Given the description of an element on the screen output the (x, y) to click on. 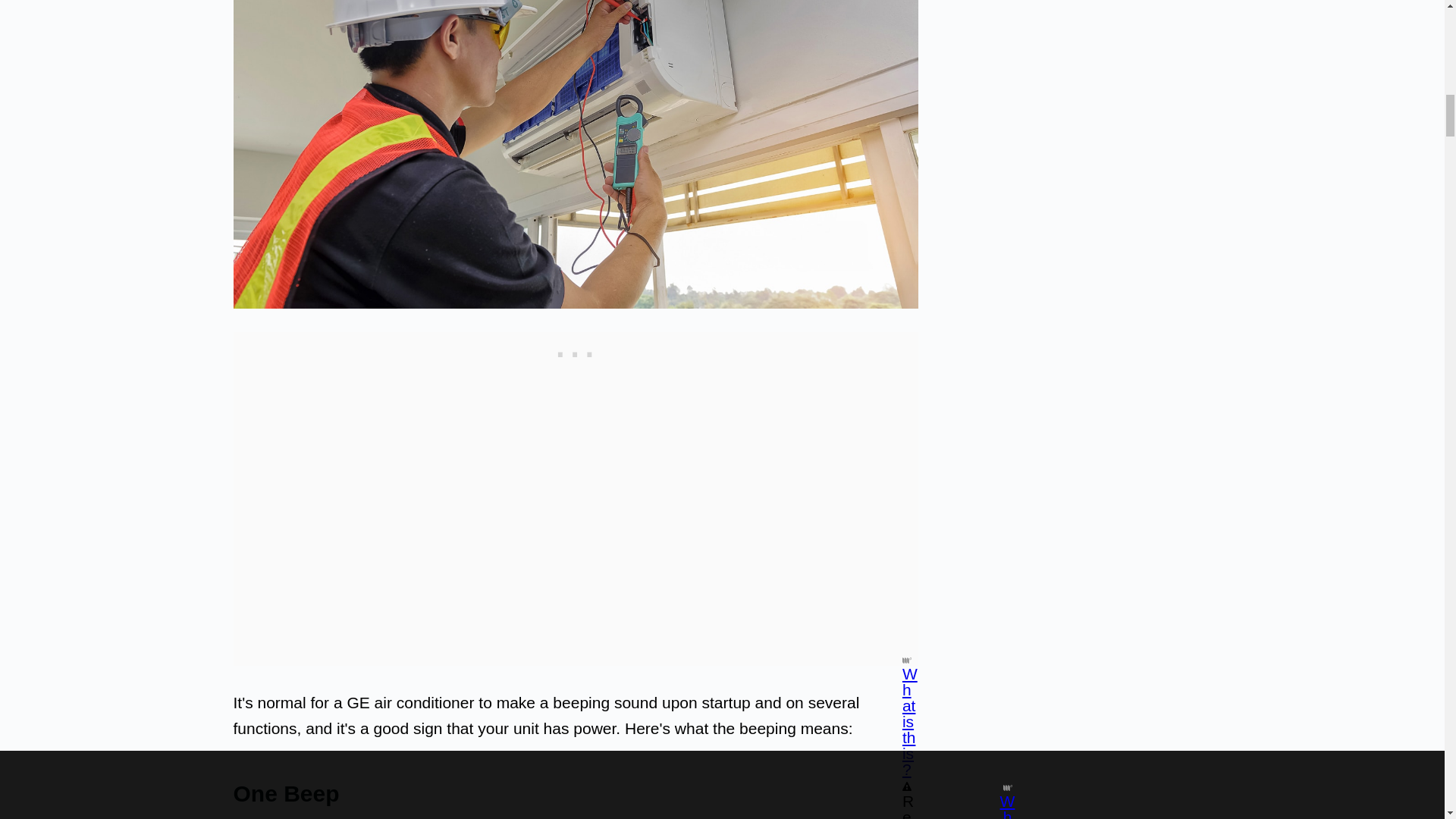
3rd party ad content (575, 351)
